Given the description of an element on the screen output the (x, y) to click on. 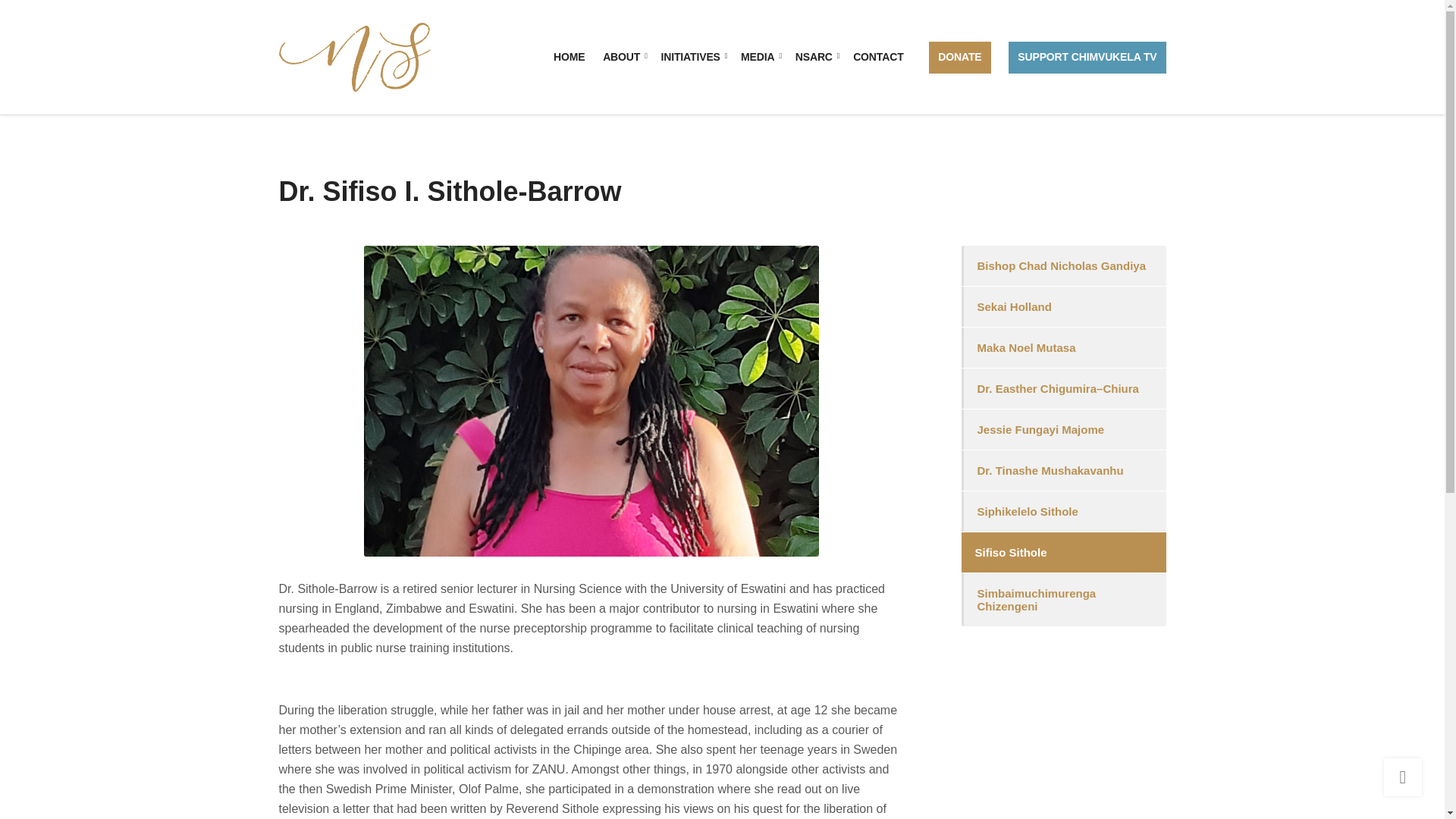
Sifiso Sithole (1063, 552)
Jessie Fungayi Majome (1063, 429)
HOME (569, 57)
ABOUT (622, 57)
Sekai Holland (1063, 306)
MEDIA (759, 57)
INITIATIVES (691, 57)
Simbaimuchimurenga Chizengeni (1063, 599)
DONATE (959, 57)
Siphikelelo Sithole (1063, 511)
